Given the description of an element on the screen output the (x, y) to click on. 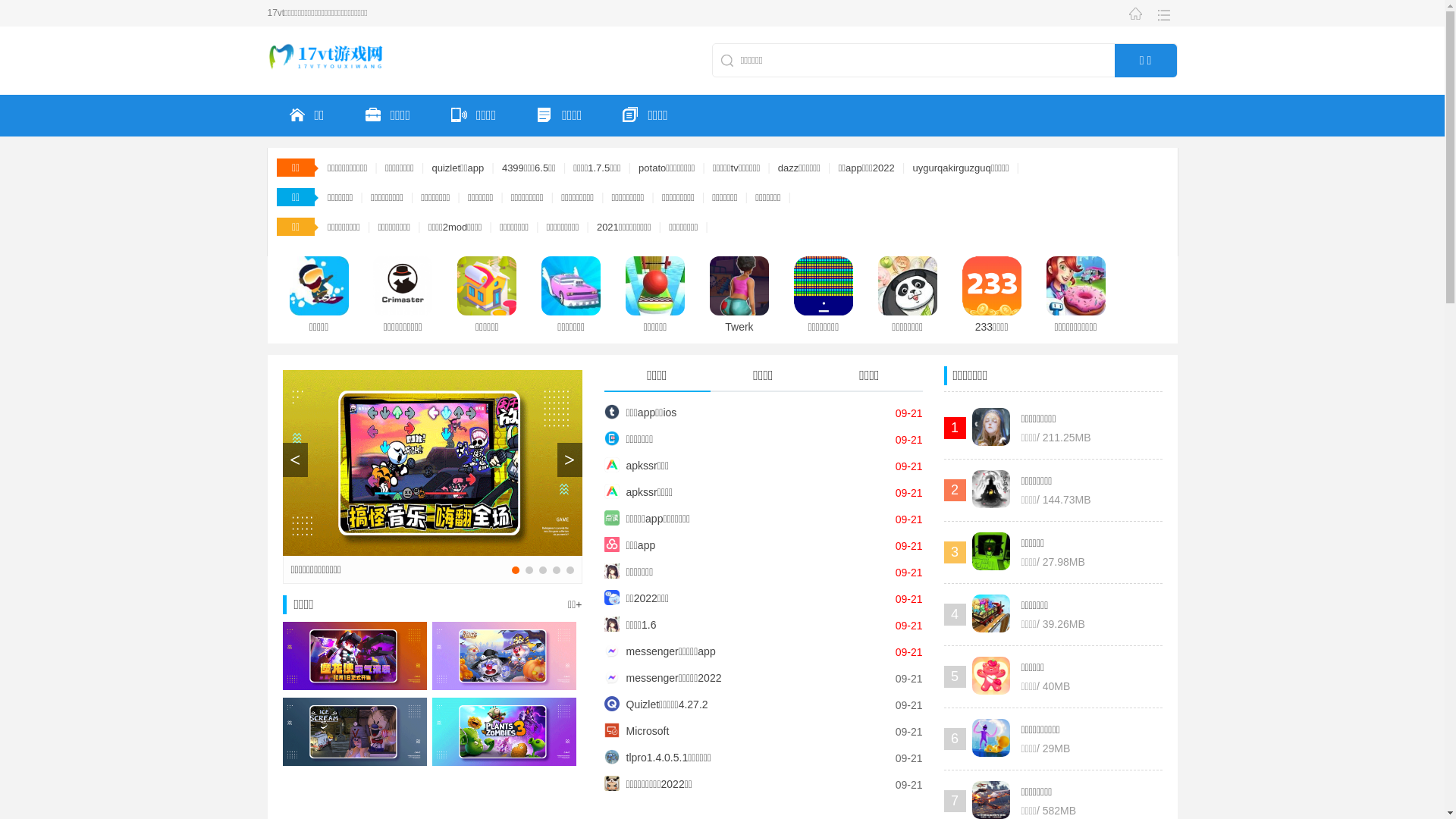
Twerk Element type: text (727, 297)
Microsoft Element type: text (635, 730)
